Given the description of an element on the screen output the (x, y) to click on. 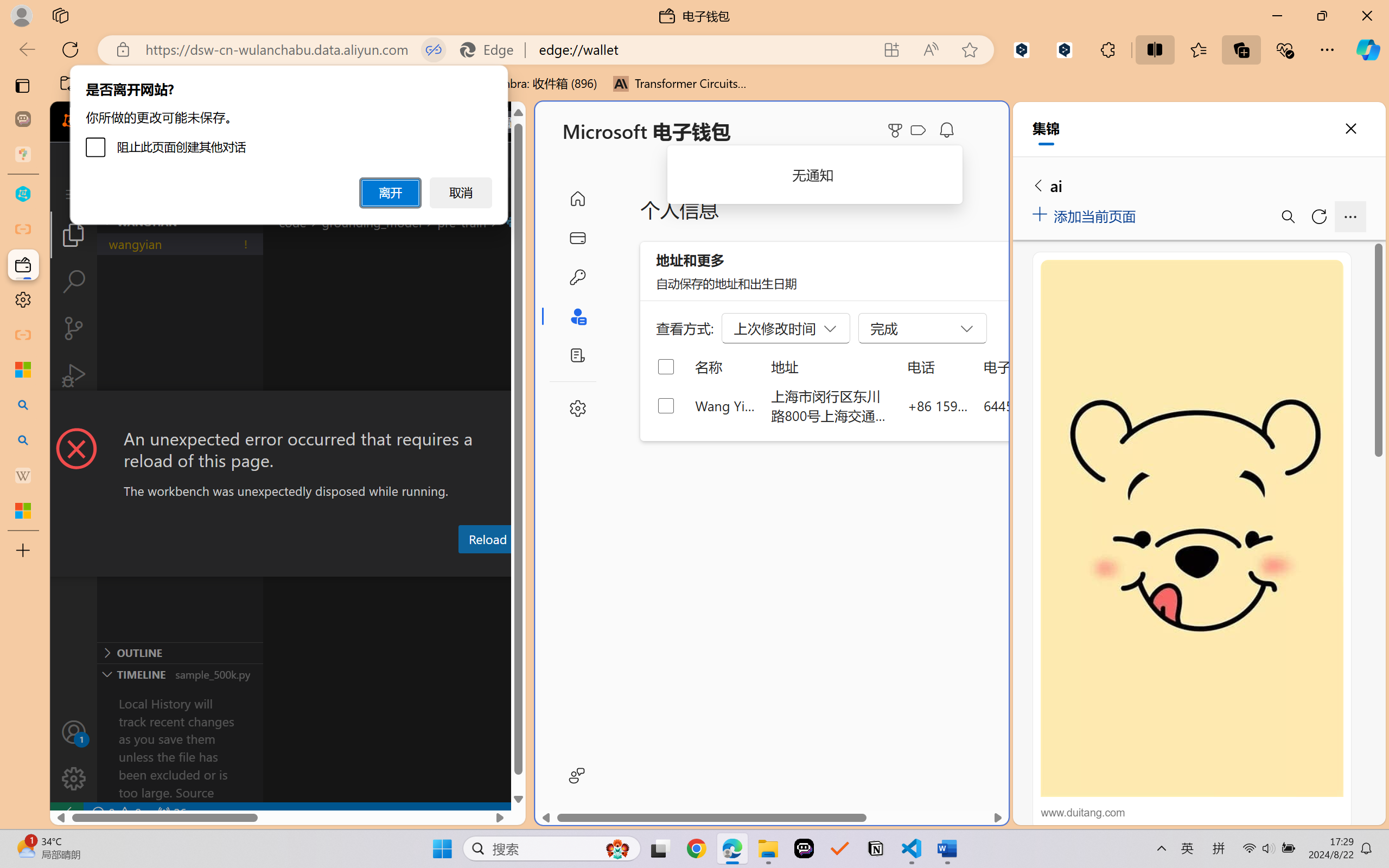
Transformer Circuits Thread (680, 83)
Output (Ctrl+Shift+U) (377, 565)
Microsoft Cashback (920, 130)
